Given the description of an element on the screen output the (x, y) to click on. 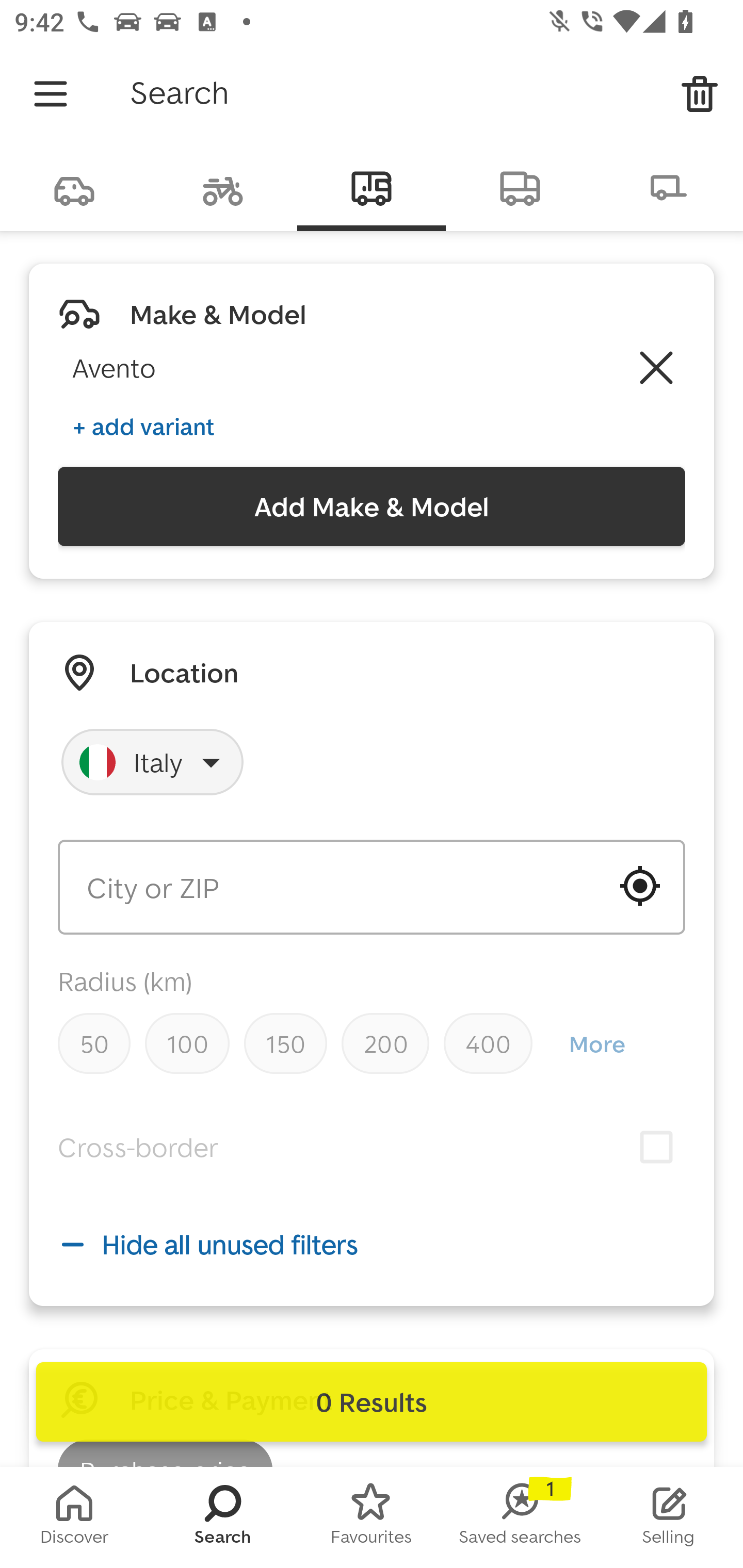
Navigate up (50, 93)
New search (699, 93)
CAR_SEARCH (74, 187)
BIKE_SEARCH (222, 187)
TRUCKS_SEARCH (519, 187)
TRAILERS_SEARCH (668, 187)
Make & Model (218, 314)
+ add variant (143, 426)
Add Make & Model (371, 506)
Location (184, 672)
Italy (152, 761)
City or ZIP (371, 887)
Radius (km) (124, 980)
50 (93, 1043)
100 (186, 1043)
150 (284, 1043)
200 (385, 1043)
400 (487, 1043)
More (596, 1043)
Hide all unused filters (371, 1244)
0 Results (371, 1401)
HOMESCREEN Discover (74, 1517)
SEARCH Search (222, 1517)
FAVORITES Favourites (371, 1517)
SAVED_SEARCHES Saved searches 1 (519, 1517)
STOCK_LIST Selling (668, 1517)
